Given the description of an element on the screen output the (x, y) to click on. 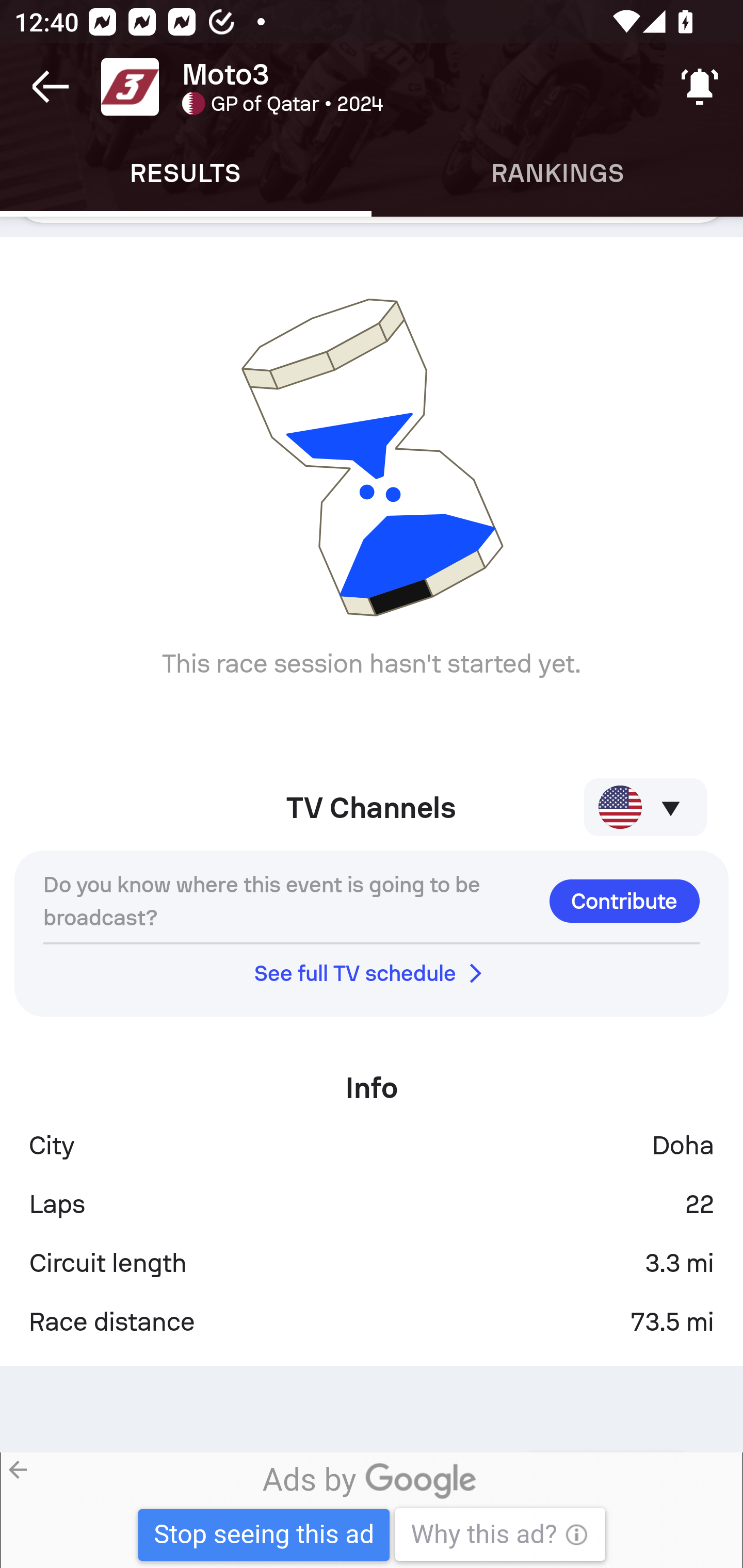
Navigate up (50, 86)
Rankings RANKINGS (557, 173)
Contribute (624, 900)
See full TV schedule (371, 972)
